Given the description of an element on the screen output the (x, y) to click on. 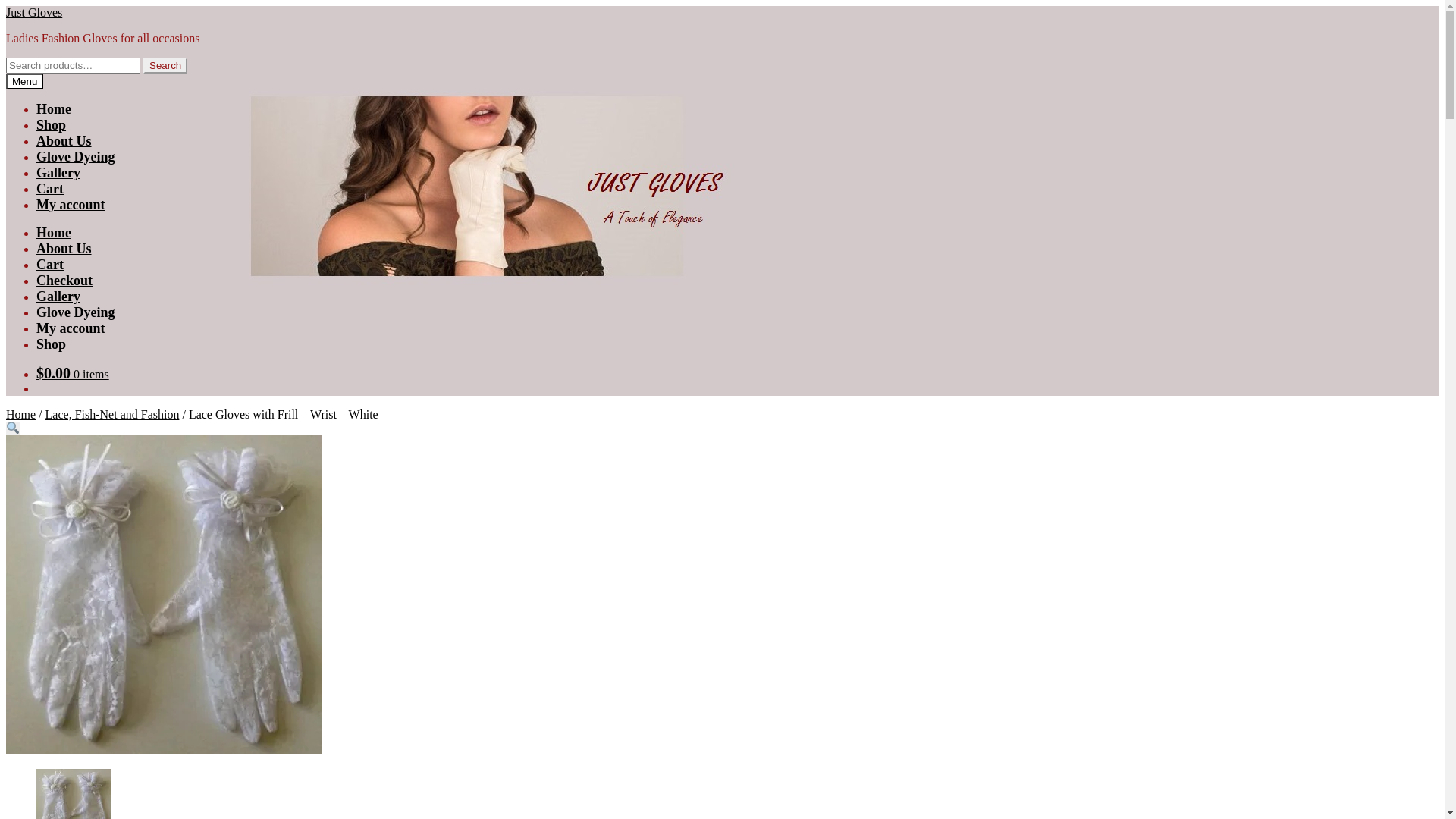
Lace Gloves with Frill - Wrist - White Element type: hover (163, 594)
$0.00 0 items Element type: text (72, 373)
About Us Element type: text (63, 248)
Just Gloves Element type: text (34, 12)
About Us Element type: text (63, 140)
Shop Element type: text (50, 343)
My account Element type: text (70, 204)
Home Element type: text (20, 413)
Glove Dyeing Element type: text (75, 156)
Home Element type: text (53, 108)
Gallery Element type: text (58, 296)
Menu Element type: text (24, 81)
My account Element type: text (70, 327)
Gallery Element type: text (58, 172)
Home Element type: text (53, 232)
Shop Element type: text (50, 124)
Checkout Element type: text (64, 280)
Search Element type: text (165, 65)
Cart Element type: text (49, 188)
Cart Element type: text (49, 264)
Skip to navigation Element type: text (5, 5)
Glove Dyeing Element type: text (75, 312)
Lace, Fish-Net and Fashion Element type: text (112, 413)
